Given the description of an element on the screen output the (x, y) to click on. 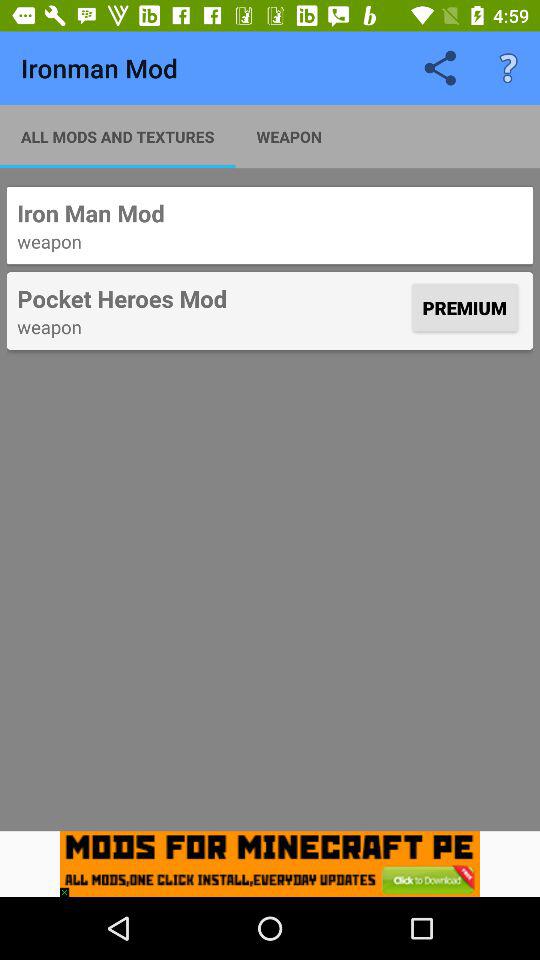
launch item above the iron man mod (508, 67)
